Given the description of an element on the screen output the (x, y) to click on. 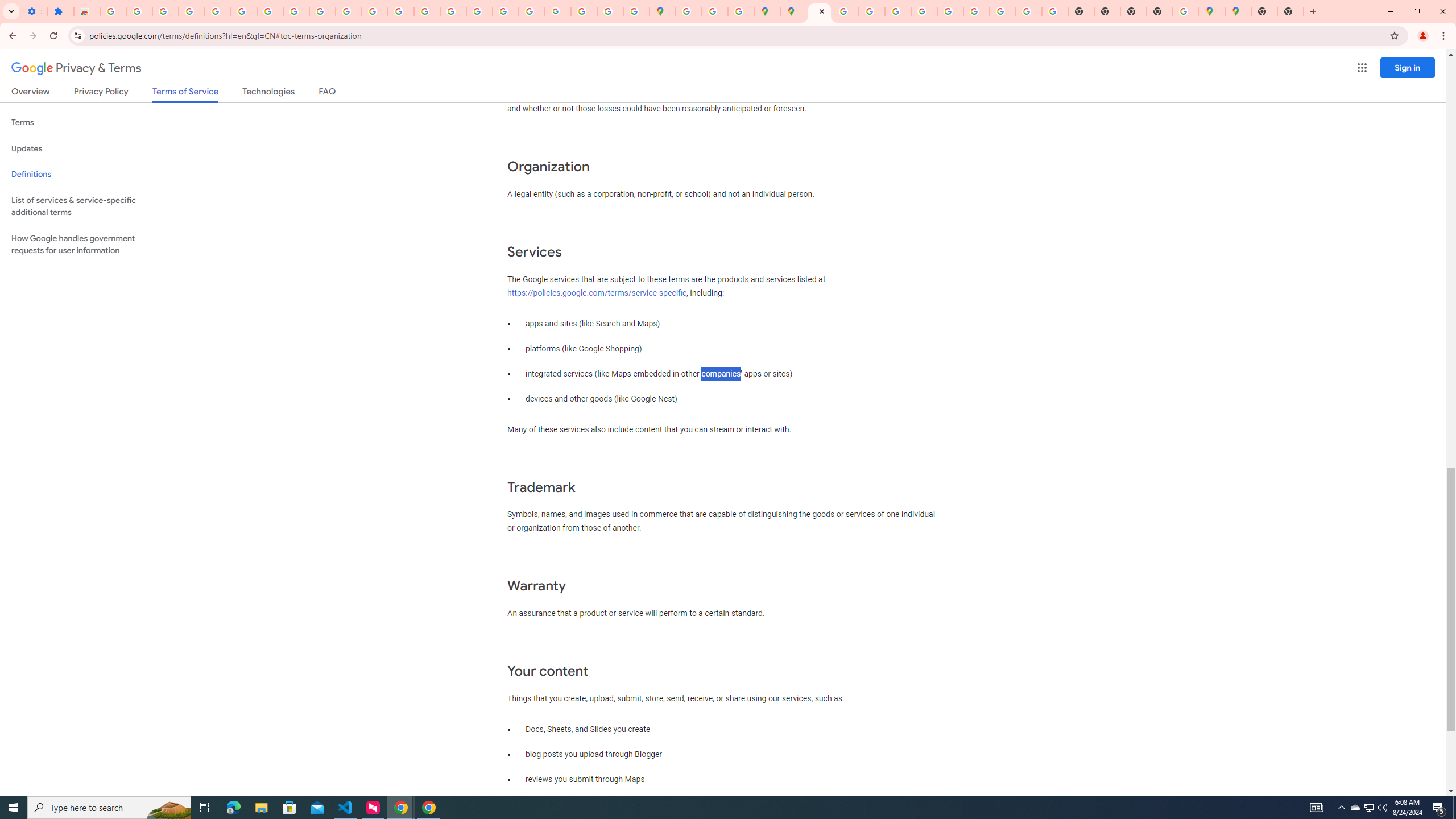
Updates (86, 148)
Privacy Help Center - Policies Help (871, 11)
Sign in - Google Accounts (217, 11)
Delete photos & videos - Computer - Google Photos Help (138, 11)
Google Maps (1211, 11)
Google Account Help (269, 11)
